Given the description of an element on the screen output the (x, y) to click on. 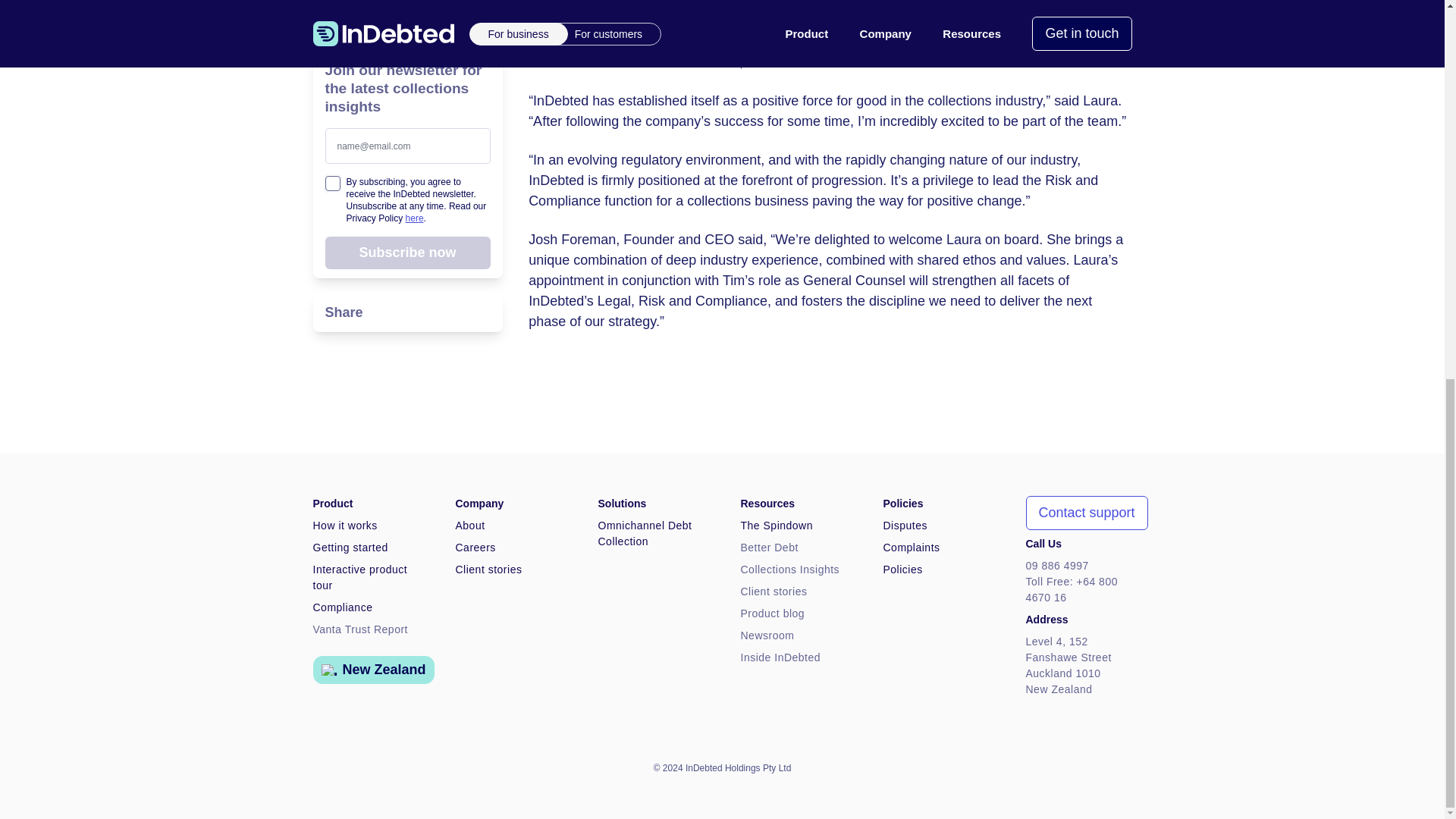
Our LinkedIn (1122, 767)
Go to the InDebted home page (321, 767)
Our Twitter (1091, 767)
